Given the description of an element on the screen output the (x, y) to click on. 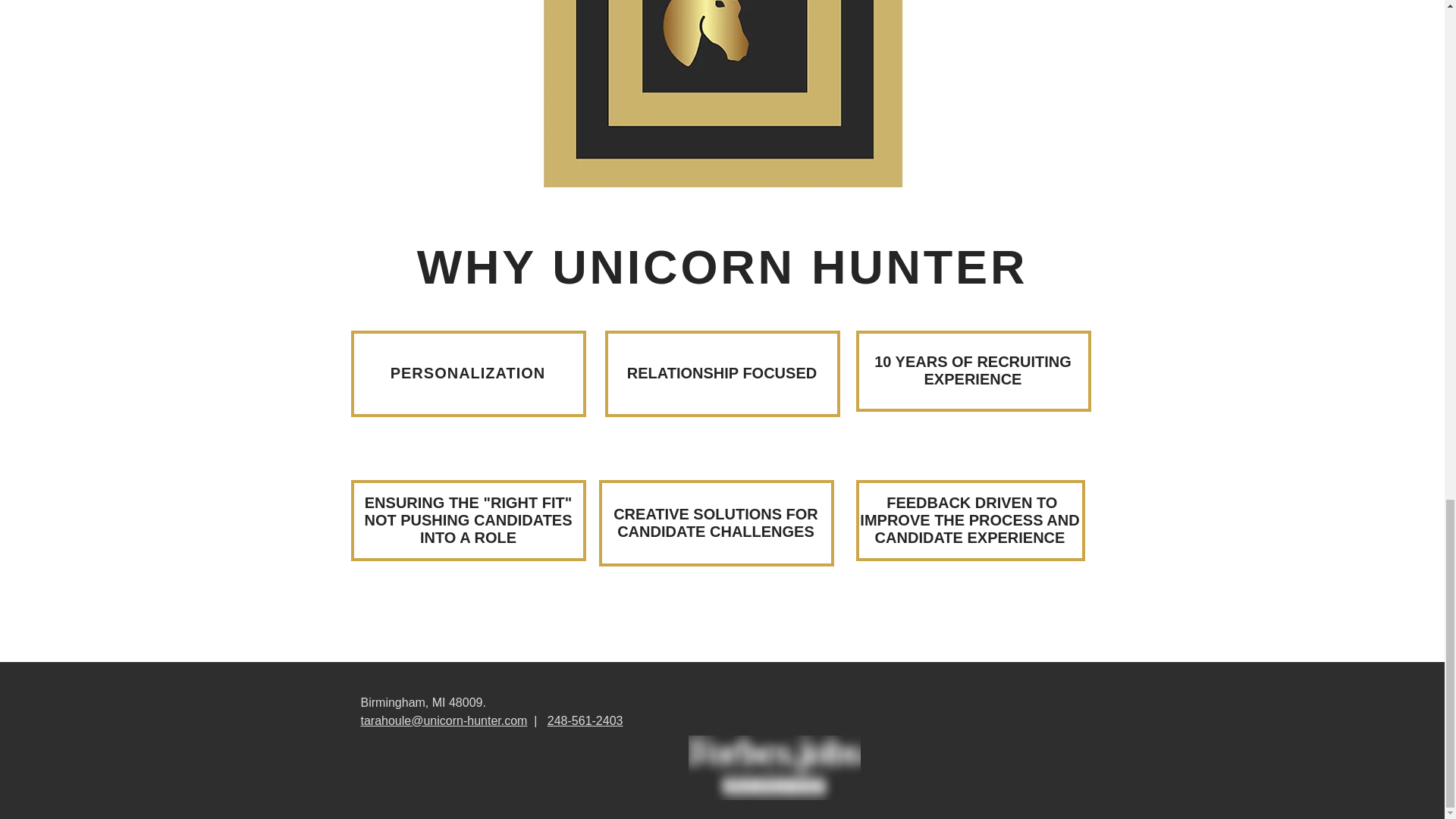
Website - Forbes Jobs.png (774, 767)
248-561-2403 (585, 720)
